Given the description of an element on the screen output the (x, y) to click on. 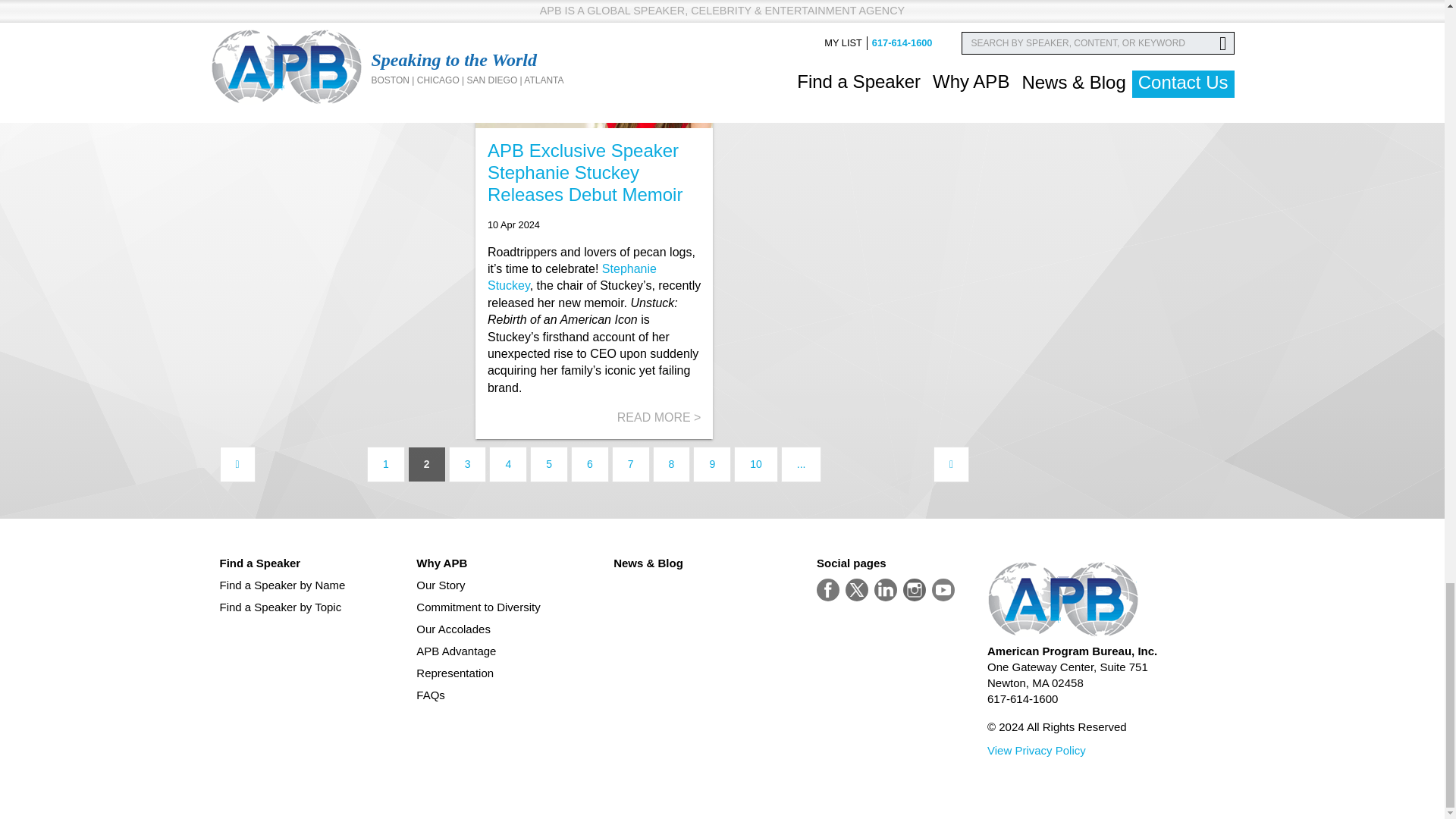
Stephanie Stuckey (571, 276)
Next (951, 464)
Previous (237, 464)
Privacy Policy (1036, 749)
